Given the description of an element on the screen output the (x, y) to click on. 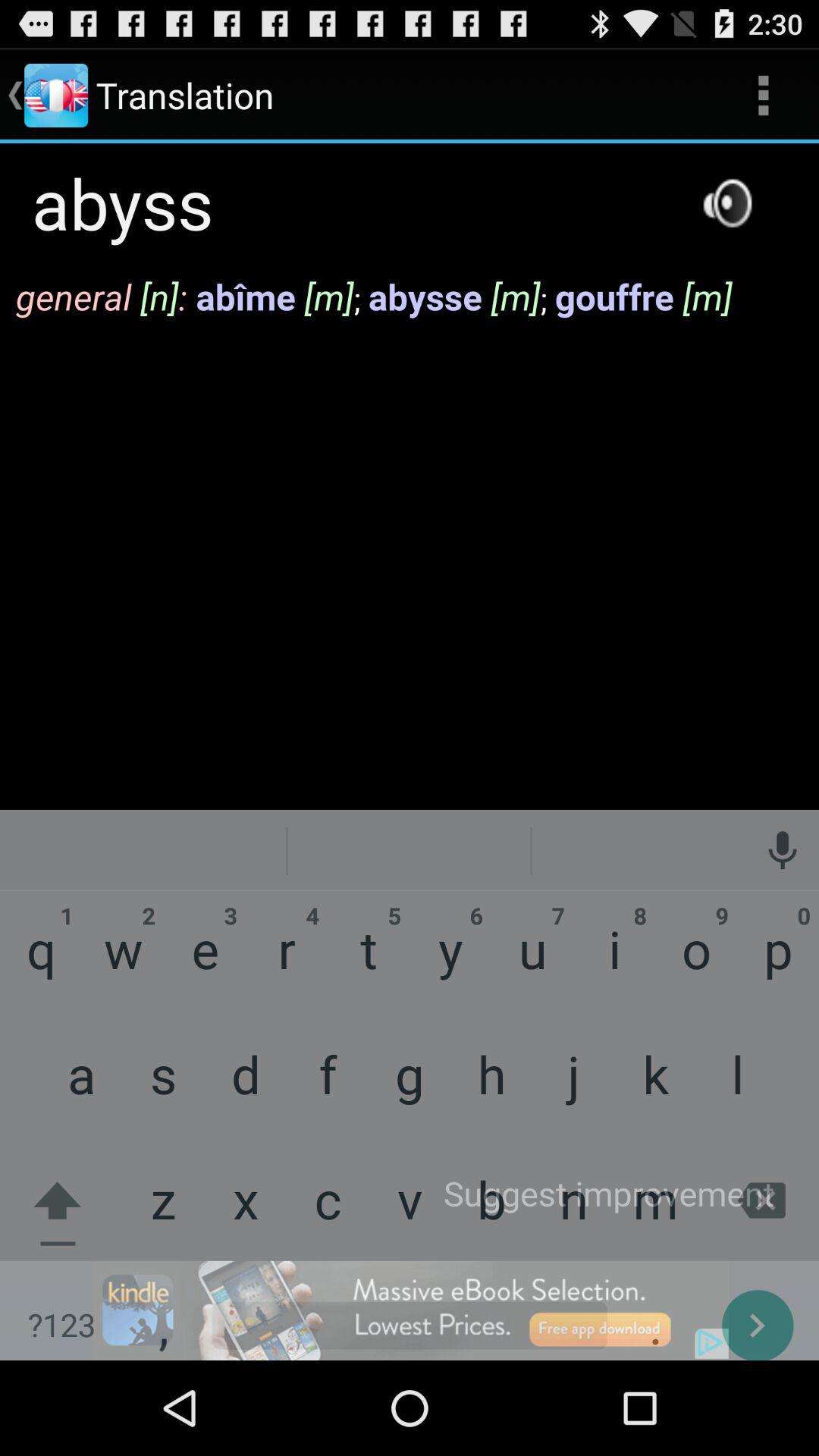
go to next page (409, 1310)
